Given the description of an element on the screen output the (x, y) to click on. 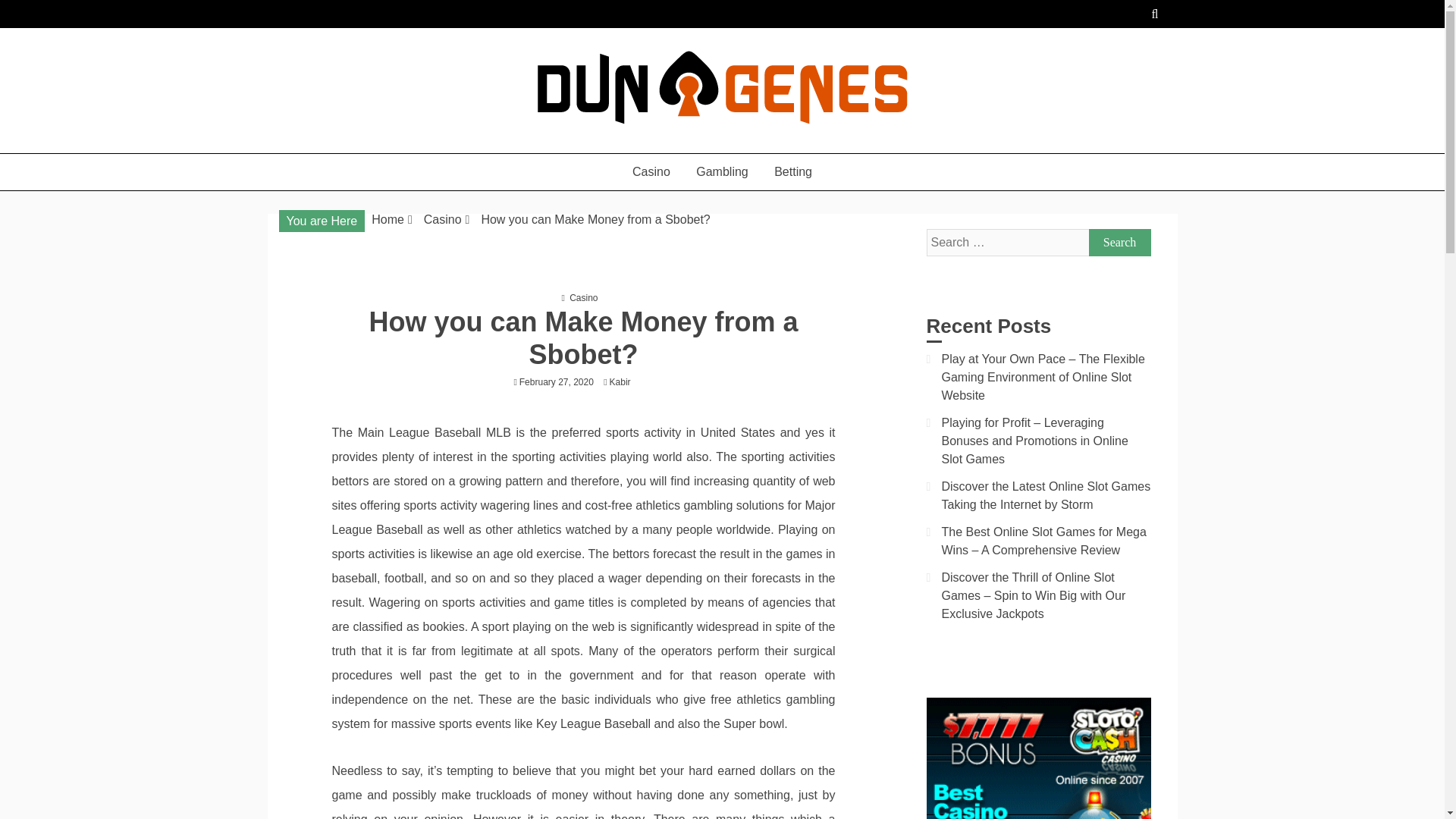
Search (1120, 242)
Search (1120, 242)
How you can Make Money from a Sbobet? (595, 219)
Kabir (624, 381)
Casino (651, 171)
February 27, 2020 (556, 381)
Casino (582, 297)
Casino (442, 219)
Casino play free online (412, 146)
Betting (793, 171)
Home (387, 219)
Search (1120, 242)
Gambling (721, 171)
